Given the description of an element on the screen output the (x, y) to click on. 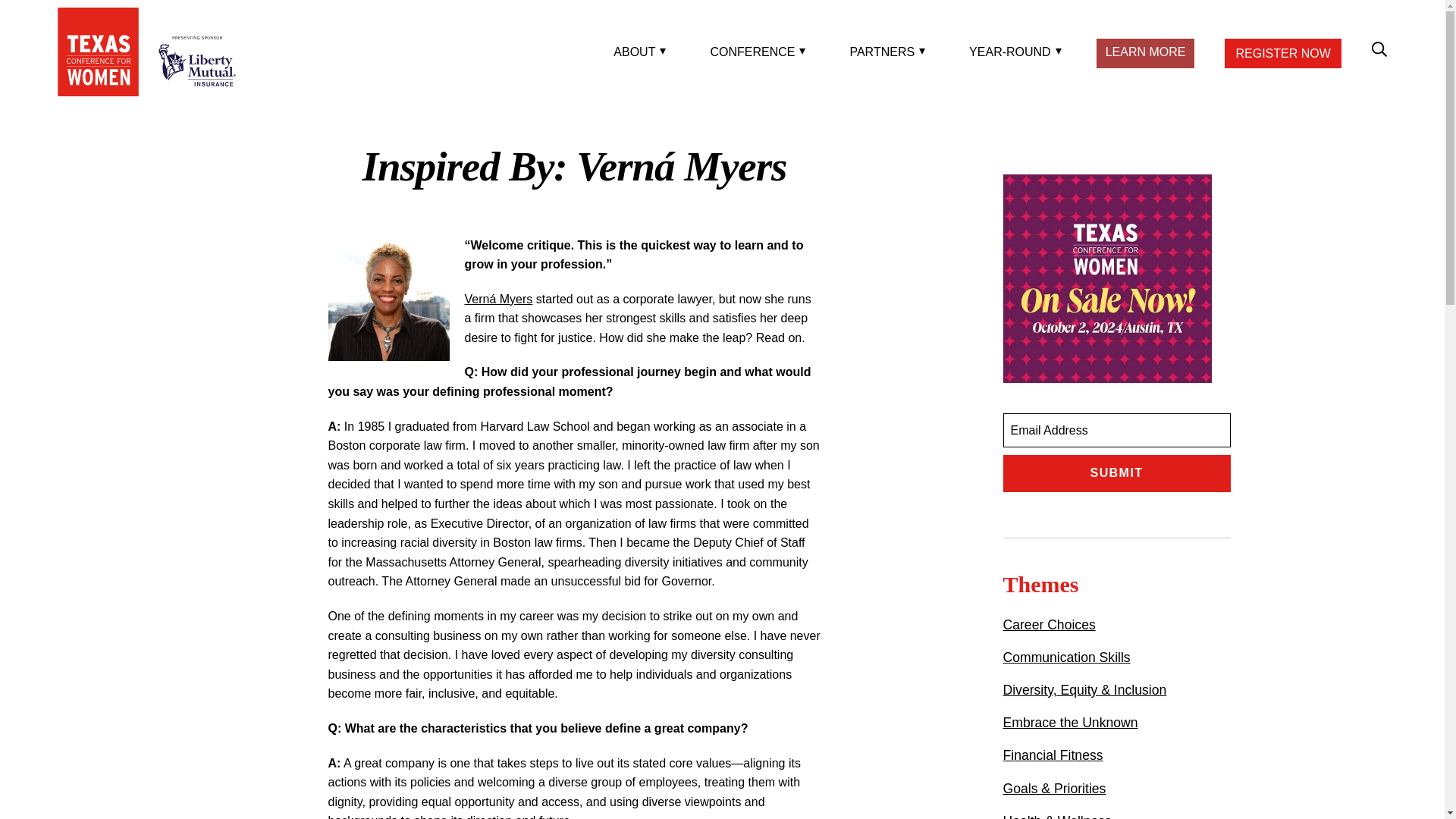
ABOUT (636, 51)
CONFERENCE (754, 51)
LEARN MORE (1145, 51)
YEAR-ROUND (1012, 51)
PARTNERS (885, 51)
REGISTER NOW (1282, 53)
